Given the description of an element on the screen output the (x, y) to click on. 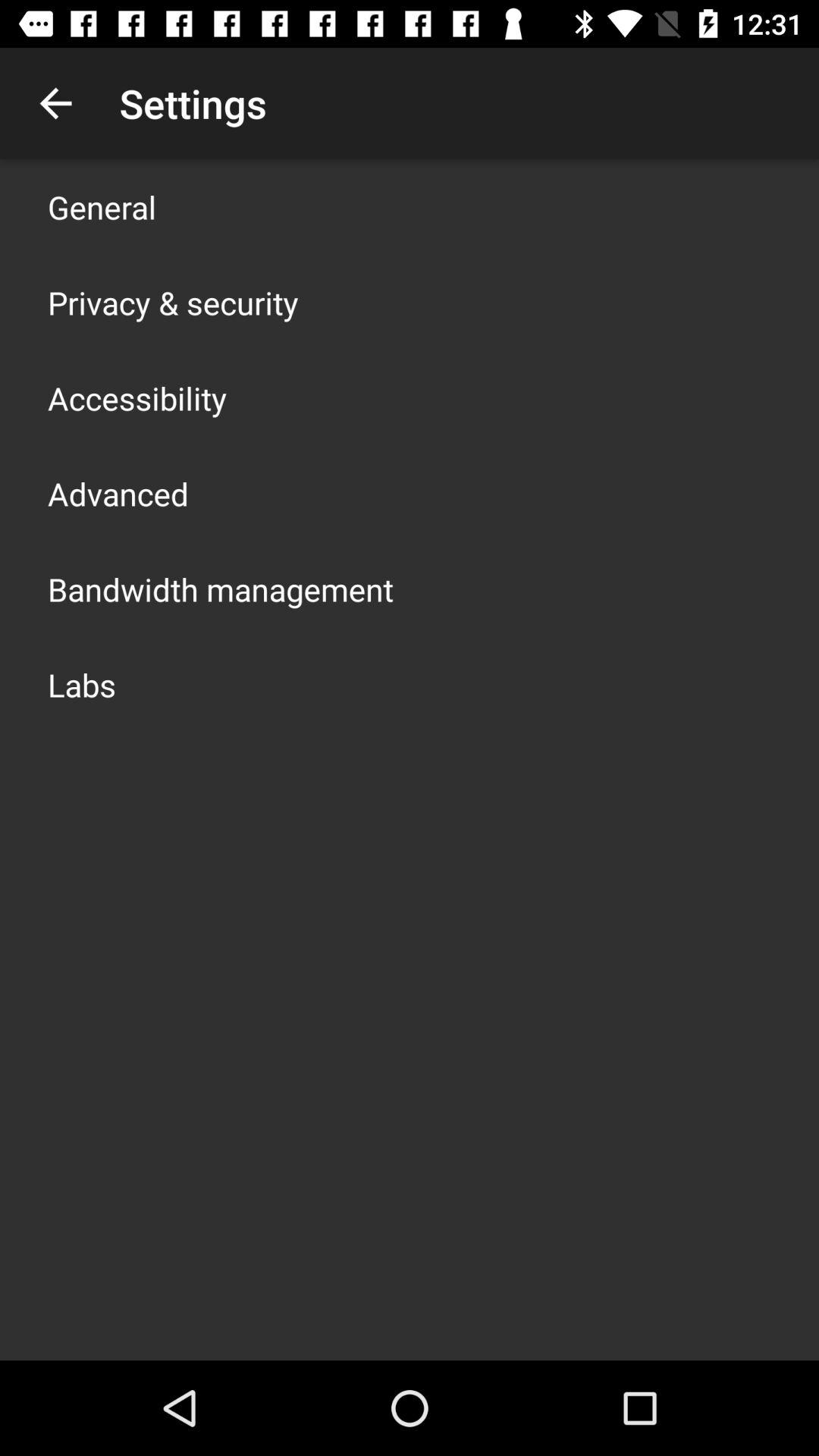
open the privacy & security app (172, 302)
